Given the description of an element on the screen output the (x, y) to click on. 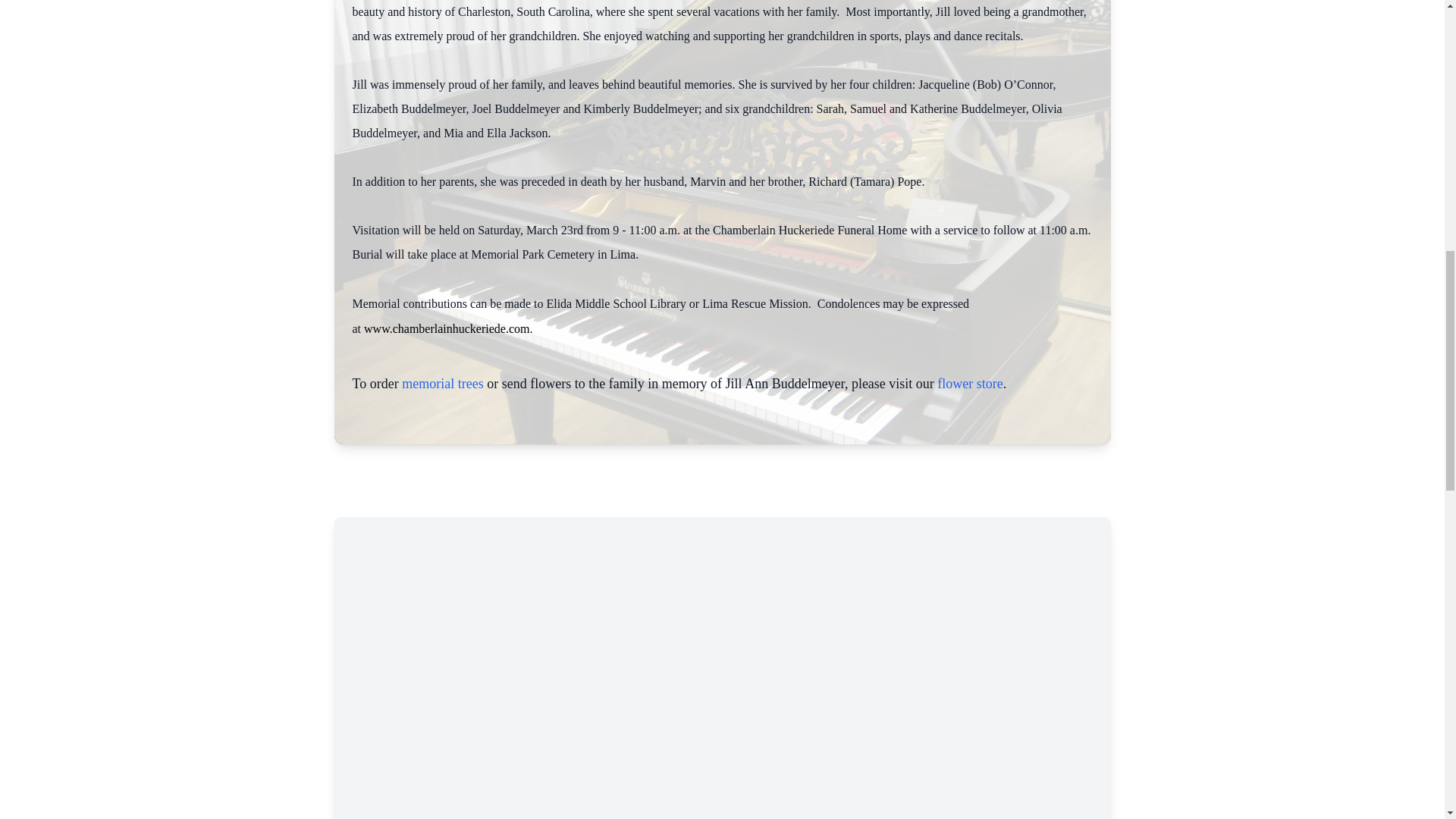
memorial trees (442, 383)
www.chamberlainhuckeriede.com (446, 328)
flower store (970, 383)
